Given the description of an element on the screen output the (x, y) to click on. 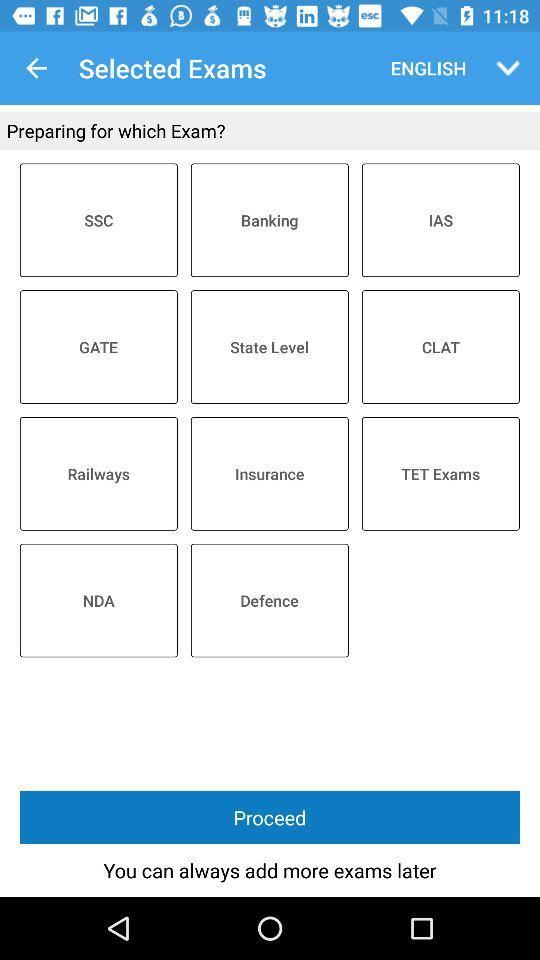
click icon above the preparing for which item (36, 68)
